Given the description of an element on the screen output the (x, y) to click on. 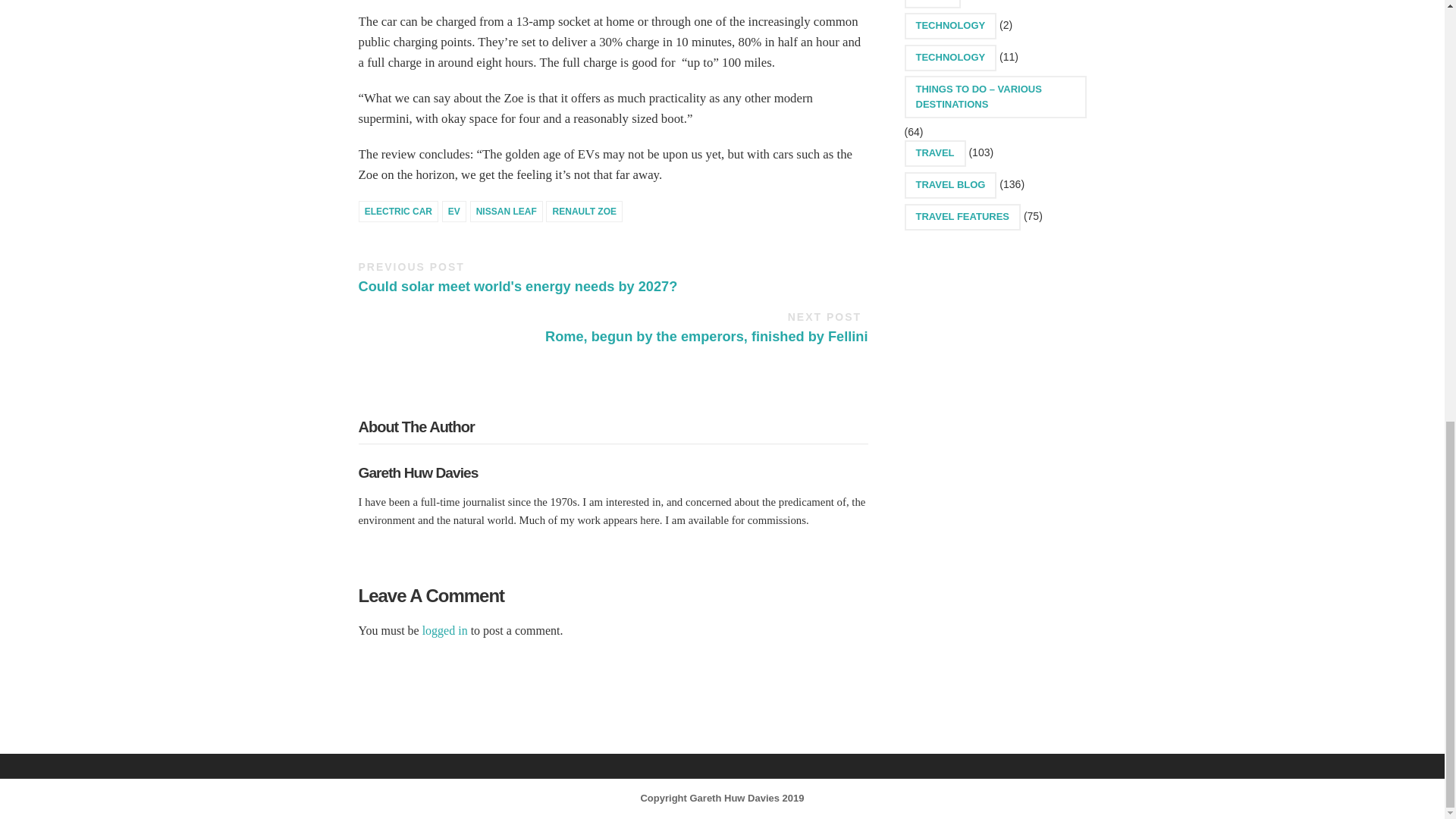
logged in (705, 328)
NISSAN LEAF (517, 278)
ELECTRIC CAR (444, 630)
EV (506, 210)
RENAULT ZOE (398, 210)
